Given the description of an element on the screen output the (x, y) to click on. 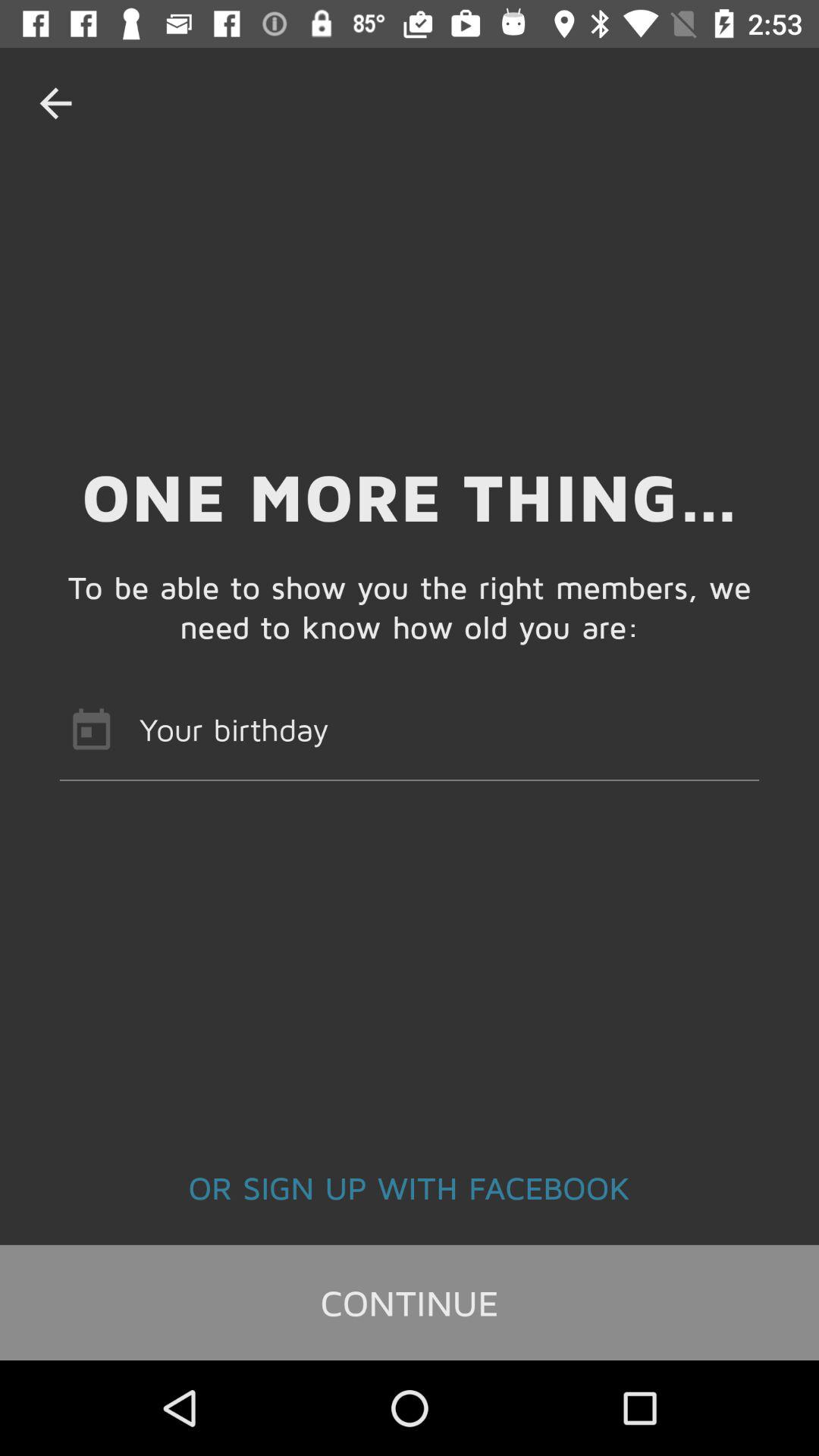
select icon below or sign up icon (409, 1302)
